Given the description of an element on the screen output the (x, y) to click on. 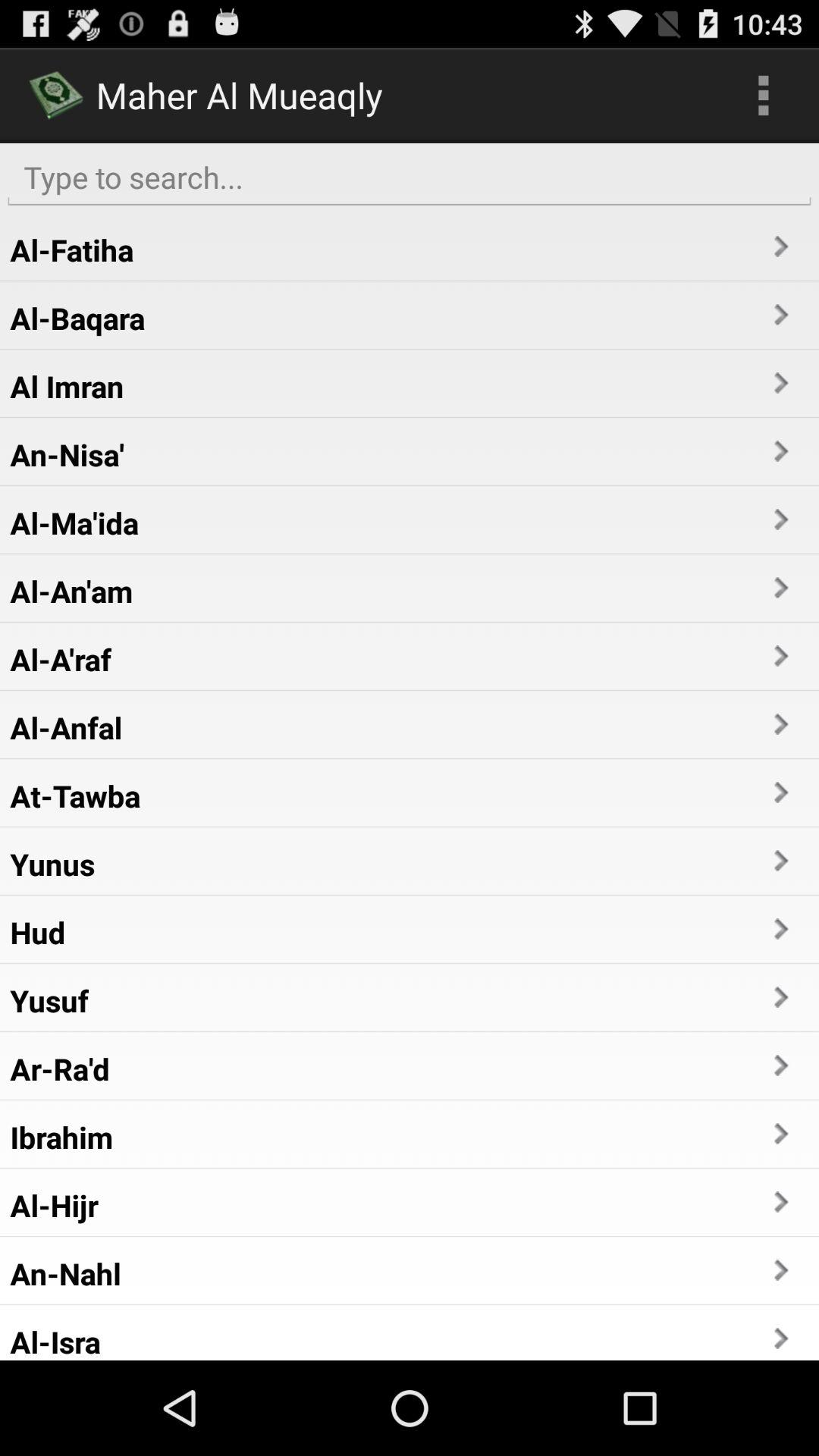
choose item next to the al-fatiha (779, 246)
